Given the description of an element on the screen output the (x, y) to click on. 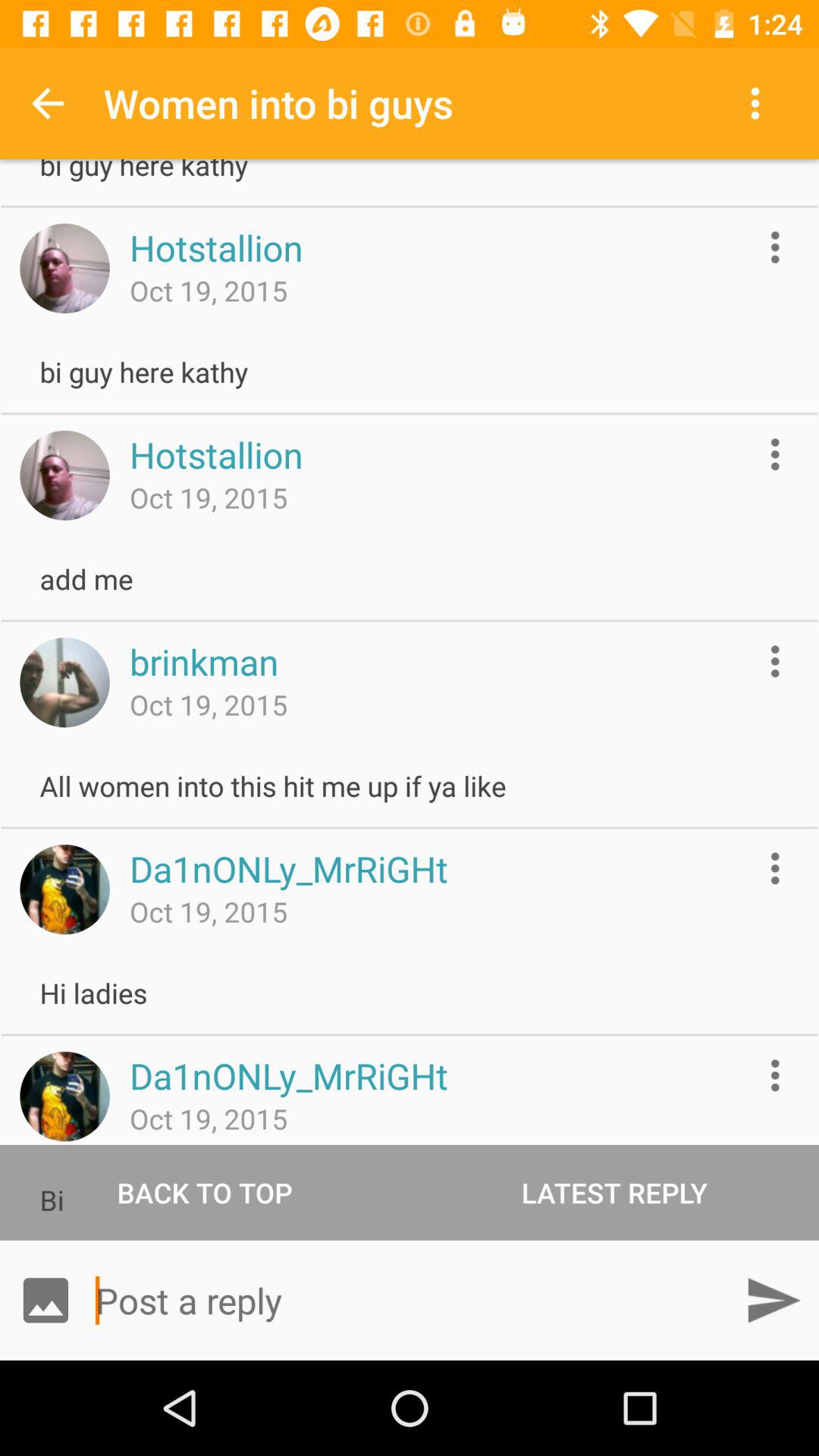
profile picture (64, 268)
